Given the description of an element on the screen output the (x, y) to click on. 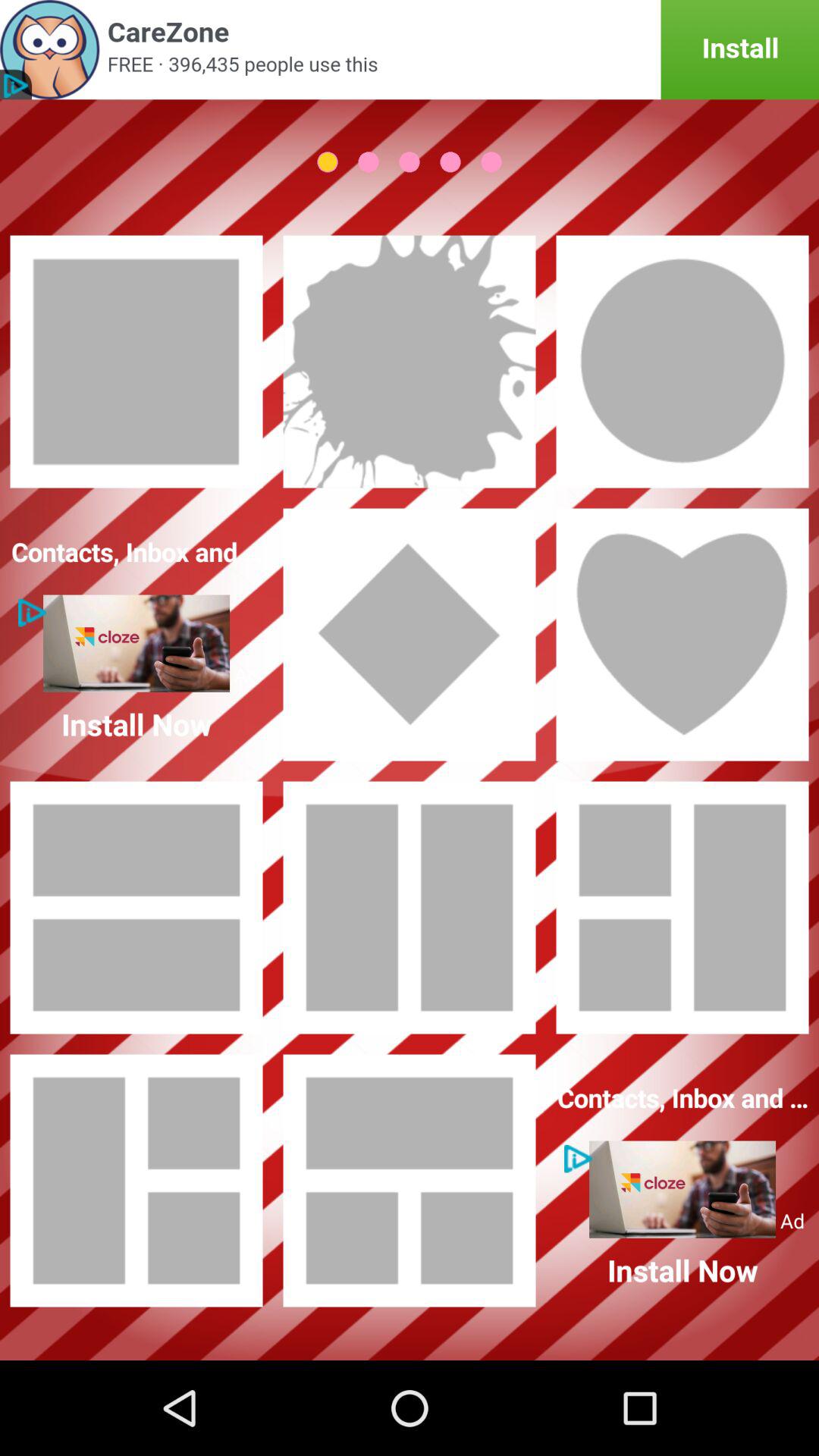
select photo frame (682, 907)
